Given the description of an element on the screen output the (x, y) to click on. 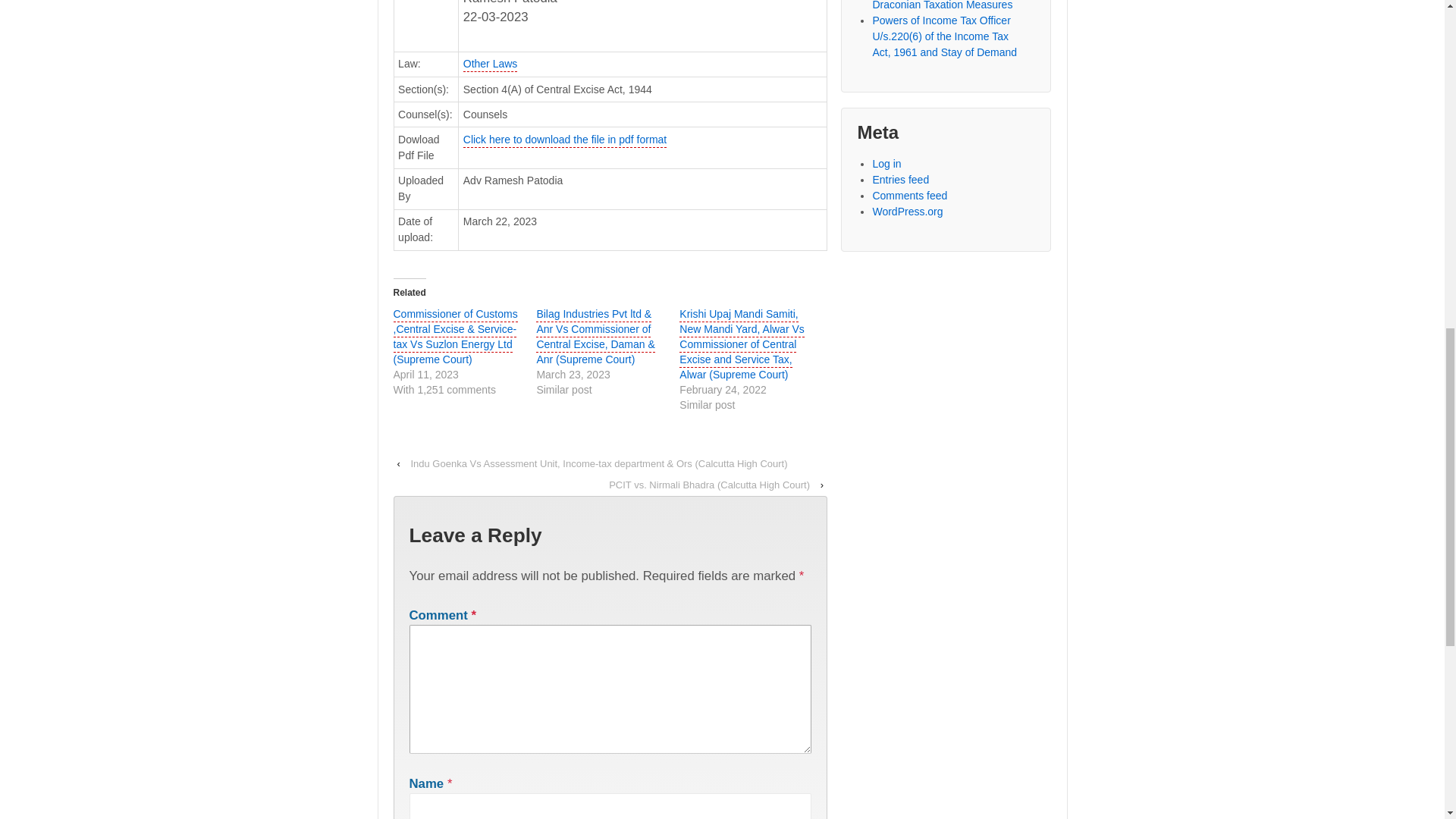
WordPress.org (907, 211)
Log in (886, 163)
Entries feed (900, 179)
Other Laws (490, 64)
Click here to download the file in pdf format (564, 140)
Comments feed (909, 195)
